Given the description of an element on the screen output the (x, y) to click on. 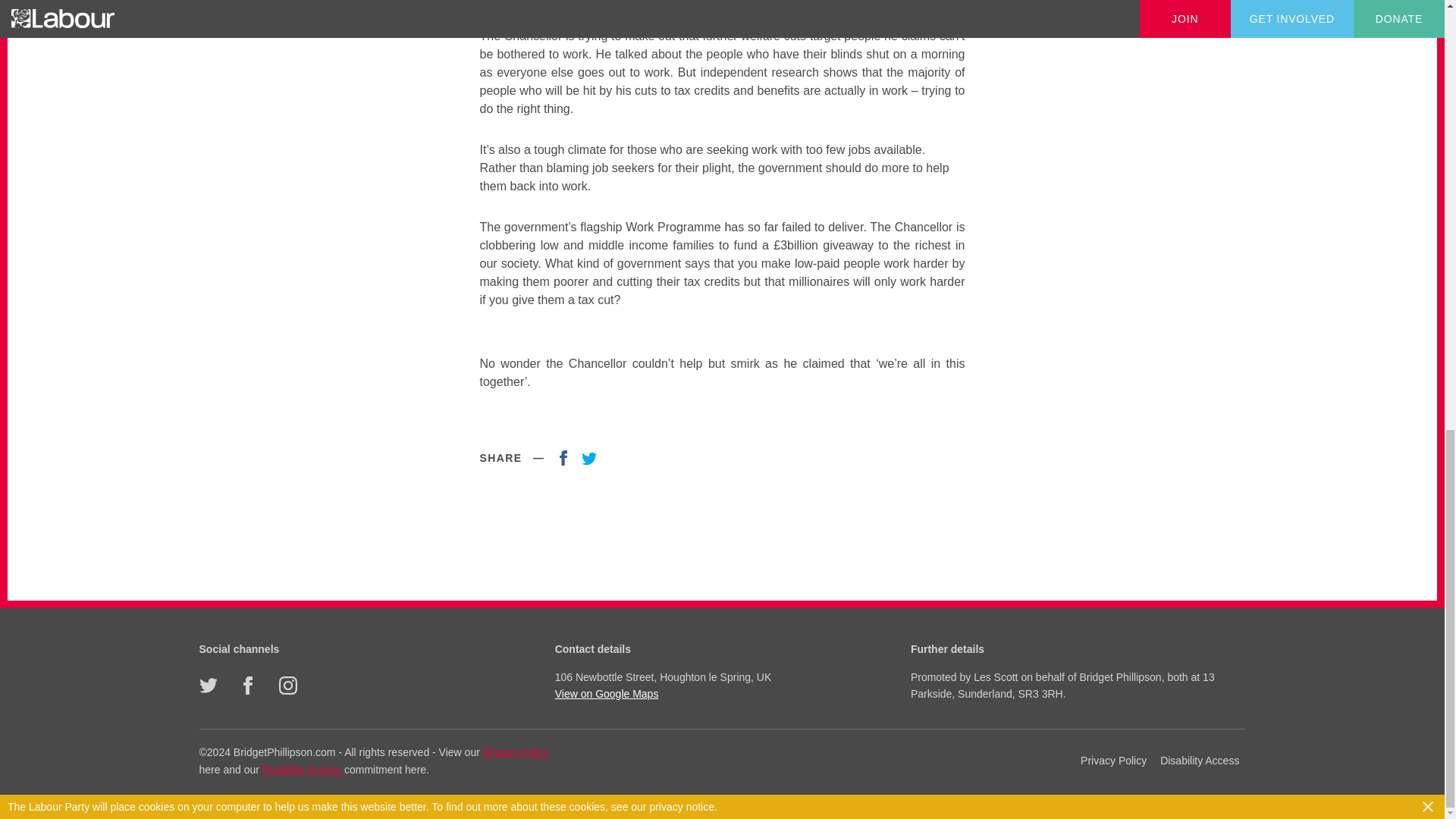
Privacy Policy (515, 752)
Disability Access (1199, 760)
Privacy Policy (1113, 760)
Disability Access (302, 769)
View on Google Maps (719, 693)
